Given the description of an element on the screen output the (x, y) to click on. 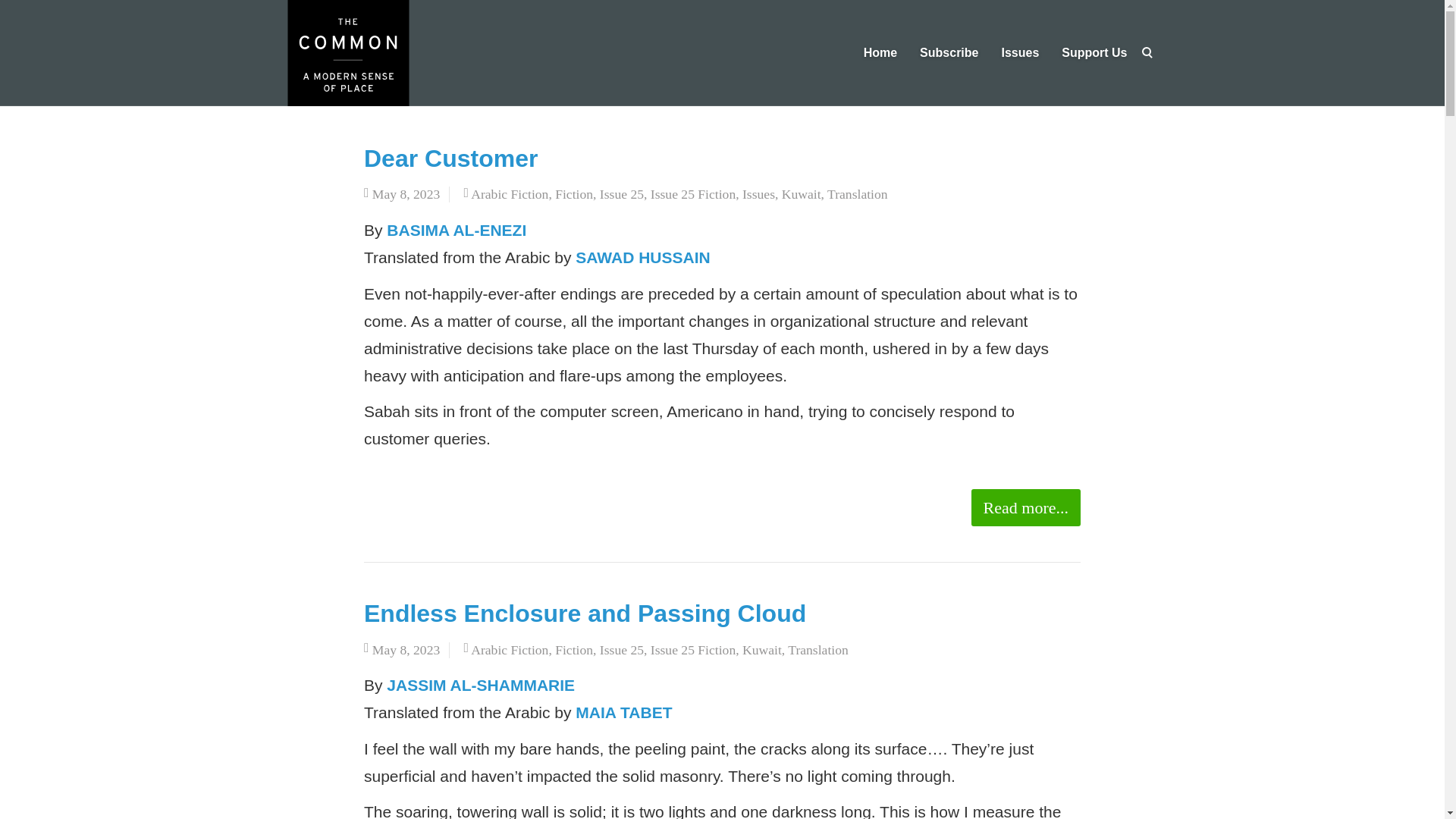
Issue 25 (621, 649)
Fiction (573, 649)
Issues (758, 193)
SAWAD HUSSAIN (642, 257)
Kuwait (761, 649)
Permalink to Endless Enclosure and Passing Cloud (585, 613)
JASSIM AL-SHAMMARIE (481, 684)
Translation (857, 193)
BASIMA AL-ENEZI (456, 230)
Issue 25 Fiction (692, 649)
